Given the description of an element on the screen output the (x, y) to click on. 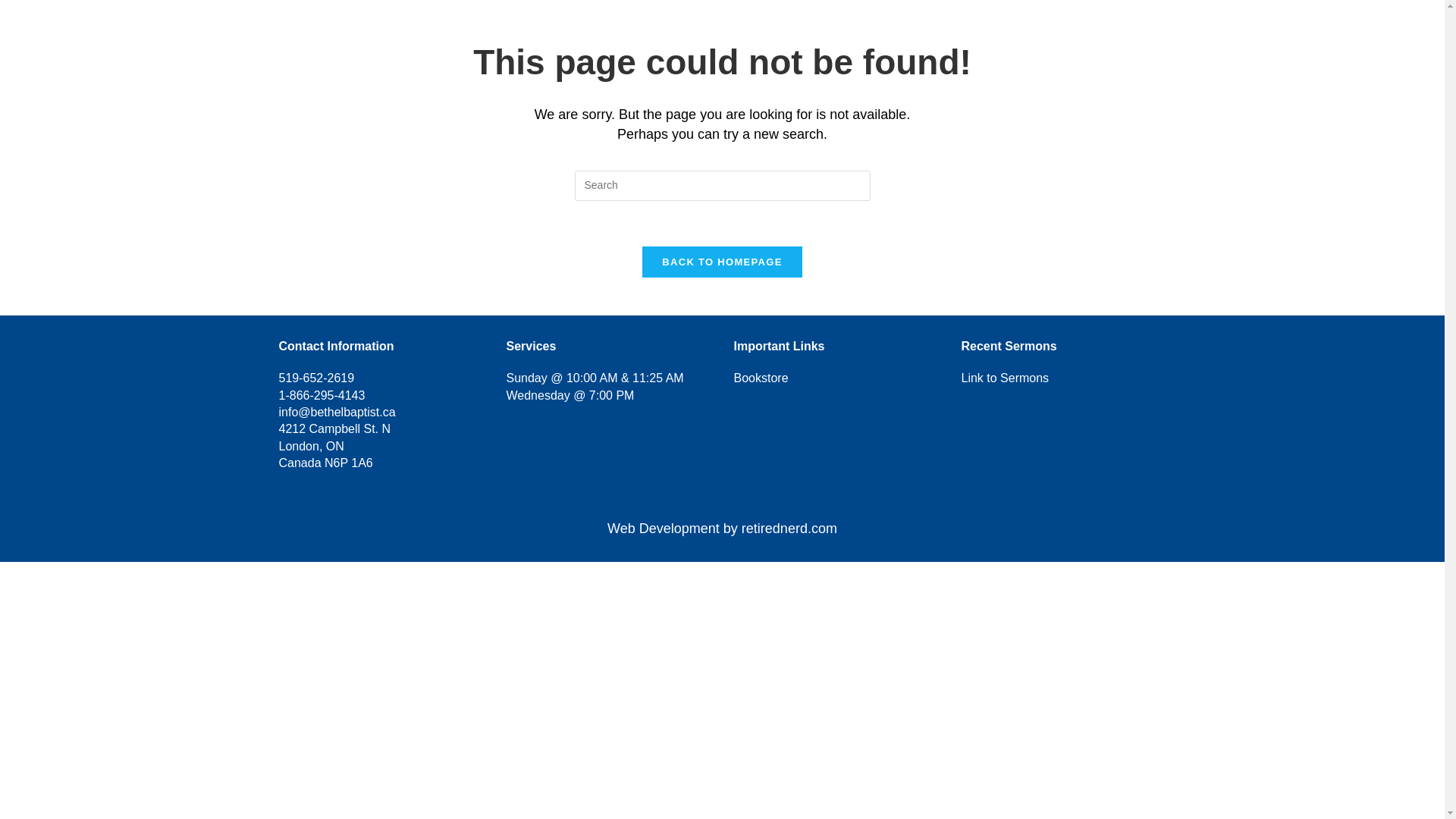
BACK TO HOMEPAGE Element type: text (721, 261)
Bookstore Element type: text (761, 377)
Print Ministry Element type: text (1235, 28)
Services Element type: text (865, 28)
Sermons Element type: text (956, 28)
Link to Sermons Element type: text (1005, 377)
Missions Element type: text (1047, 28)
Training Element type: text (785, 28)
retirednerd.com Element type: text (789, 527)
Contact Element type: text (1328, 28)
Bookstore Element type: text (1133, 28)
